Given the description of an element on the screen output the (x, y) to click on. 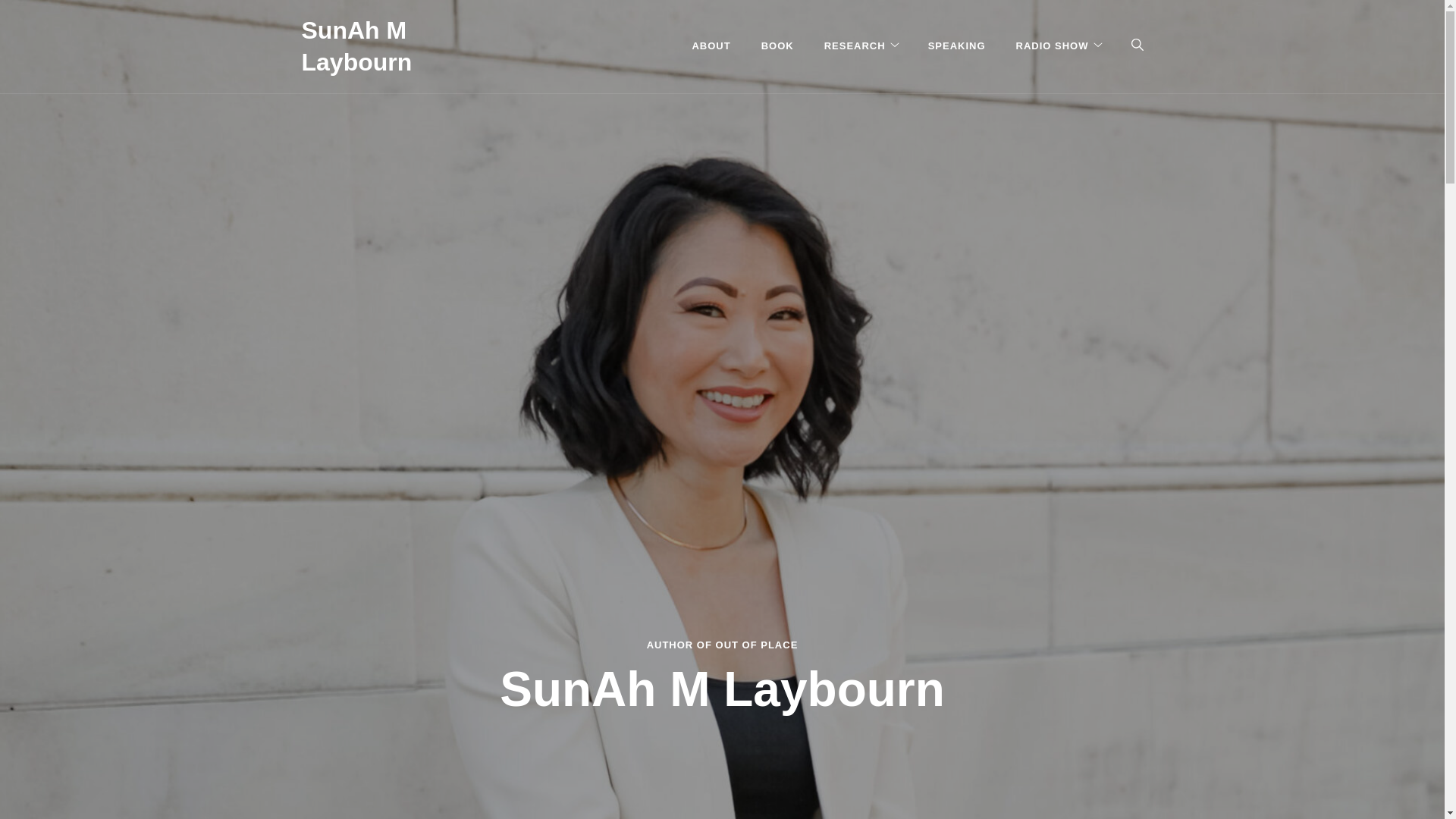
RESEARCH (855, 46)
ABOUT (718, 46)
RADIO SHOW (1052, 46)
SunAh M Laybourn (356, 46)
SPEAKING (956, 46)
BOOK (777, 46)
